Given the description of an element on the screen output the (x, y) to click on. 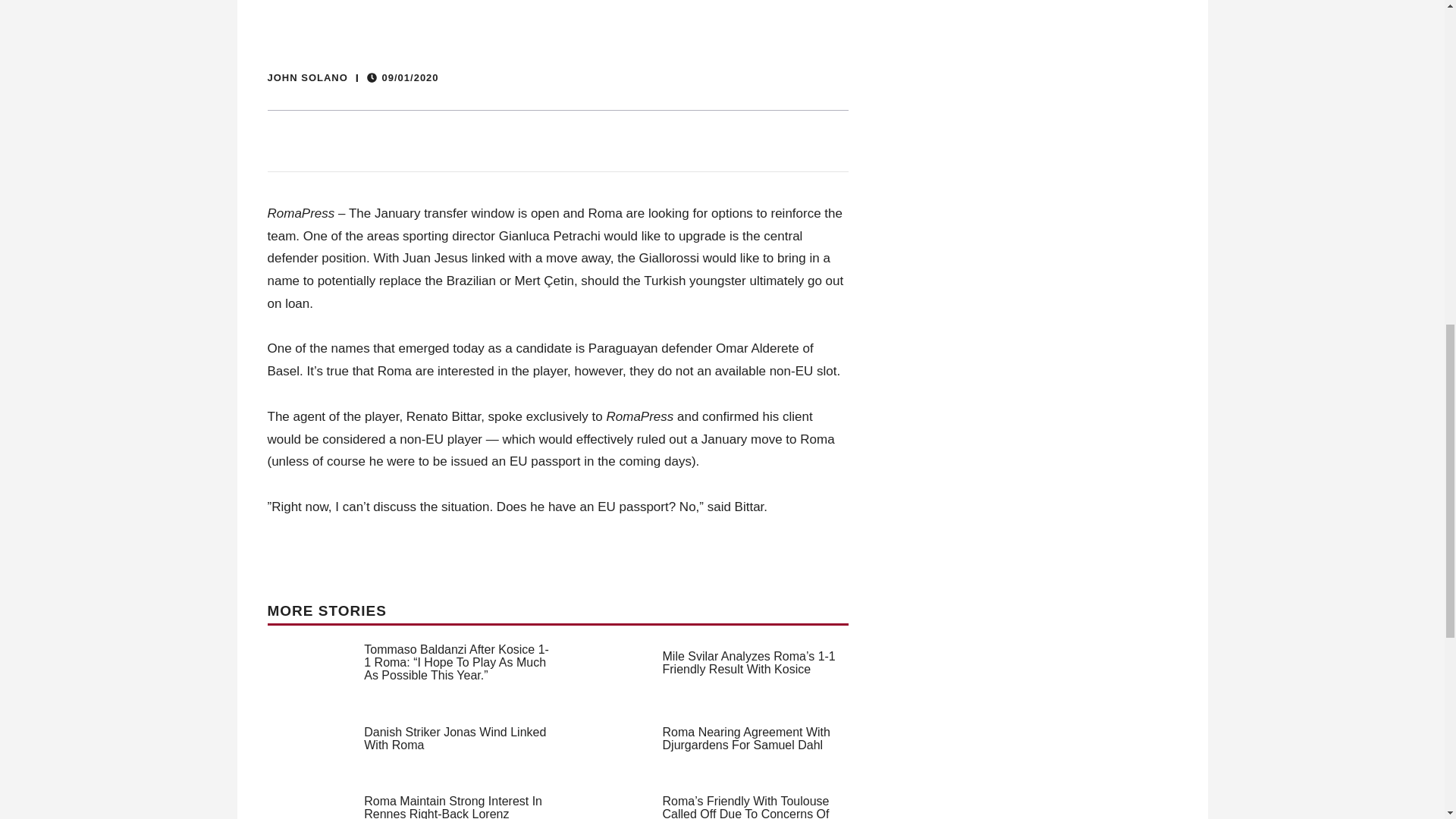
Danish Striker Jonas Wind Linked With Roma (455, 738)
Roma Nearing Agreement With Djurgardens For Samuel Dahl (745, 738)
